Given the description of an element on the screen output the (x, y) to click on. 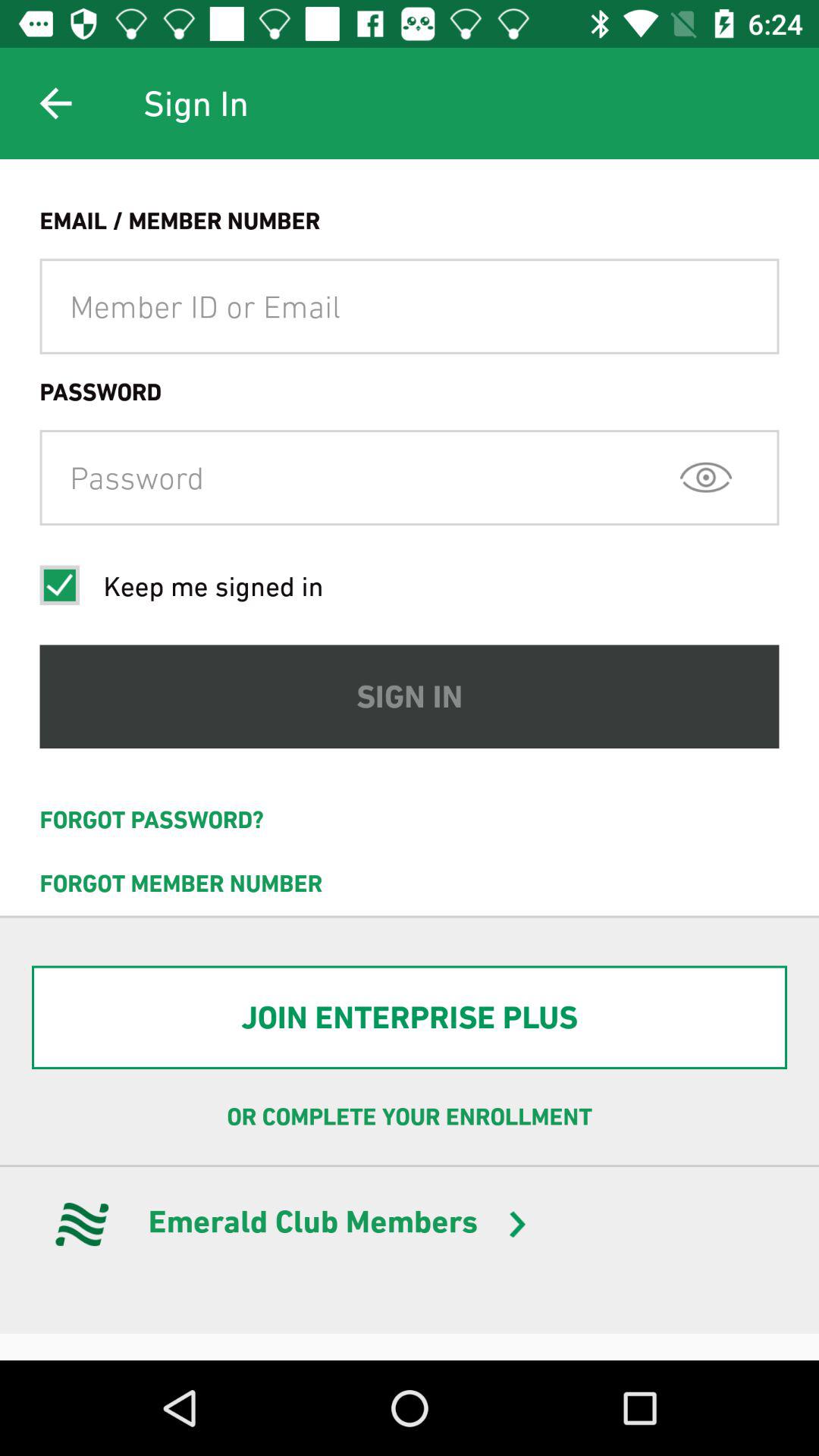
open the icon above forgot member number icon (409, 819)
